Given the description of an element on the screen output the (x, y) to click on. 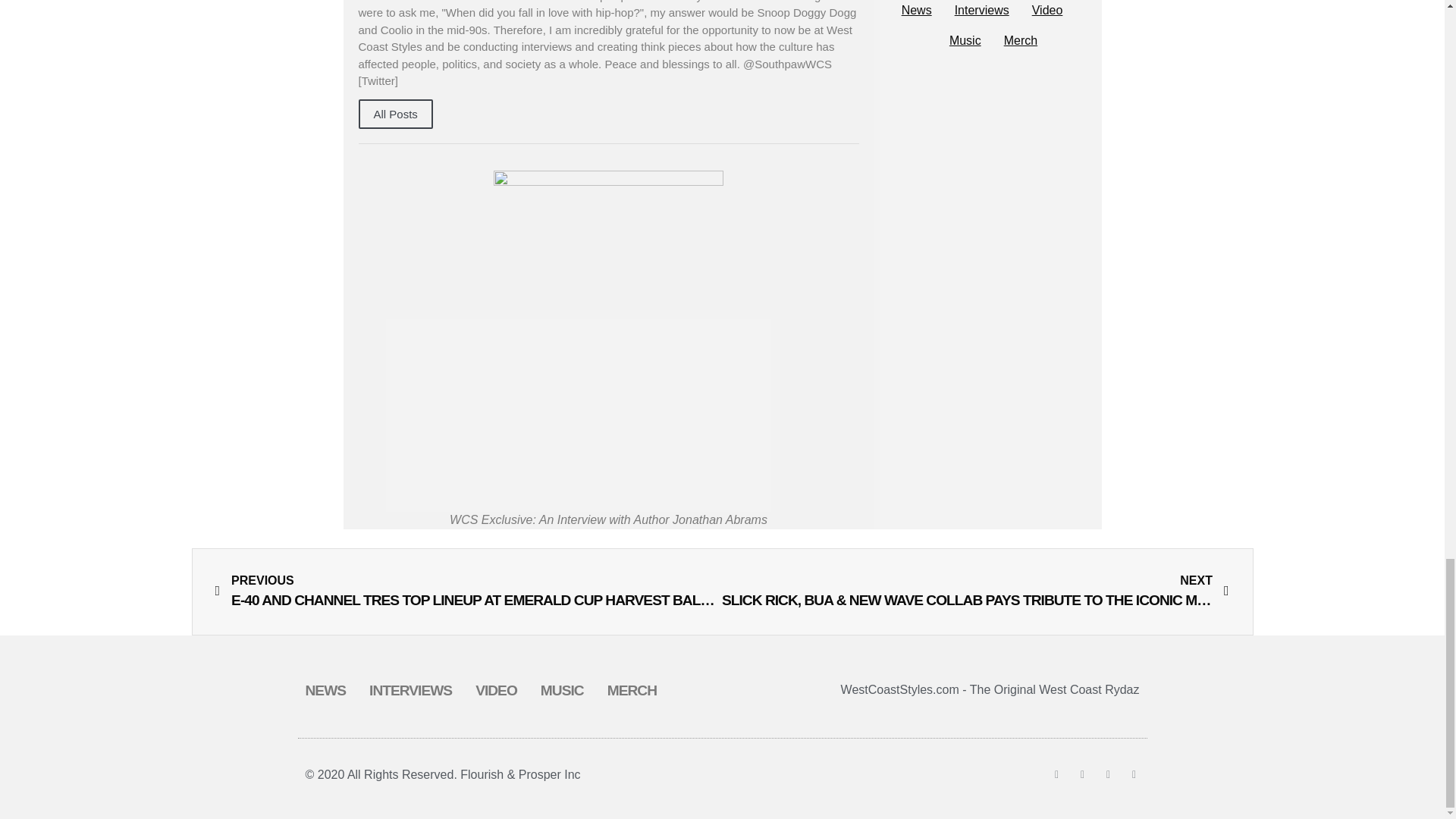
All Posts (395, 113)
